Given the description of an element on the screen output the (x, y) to click on. 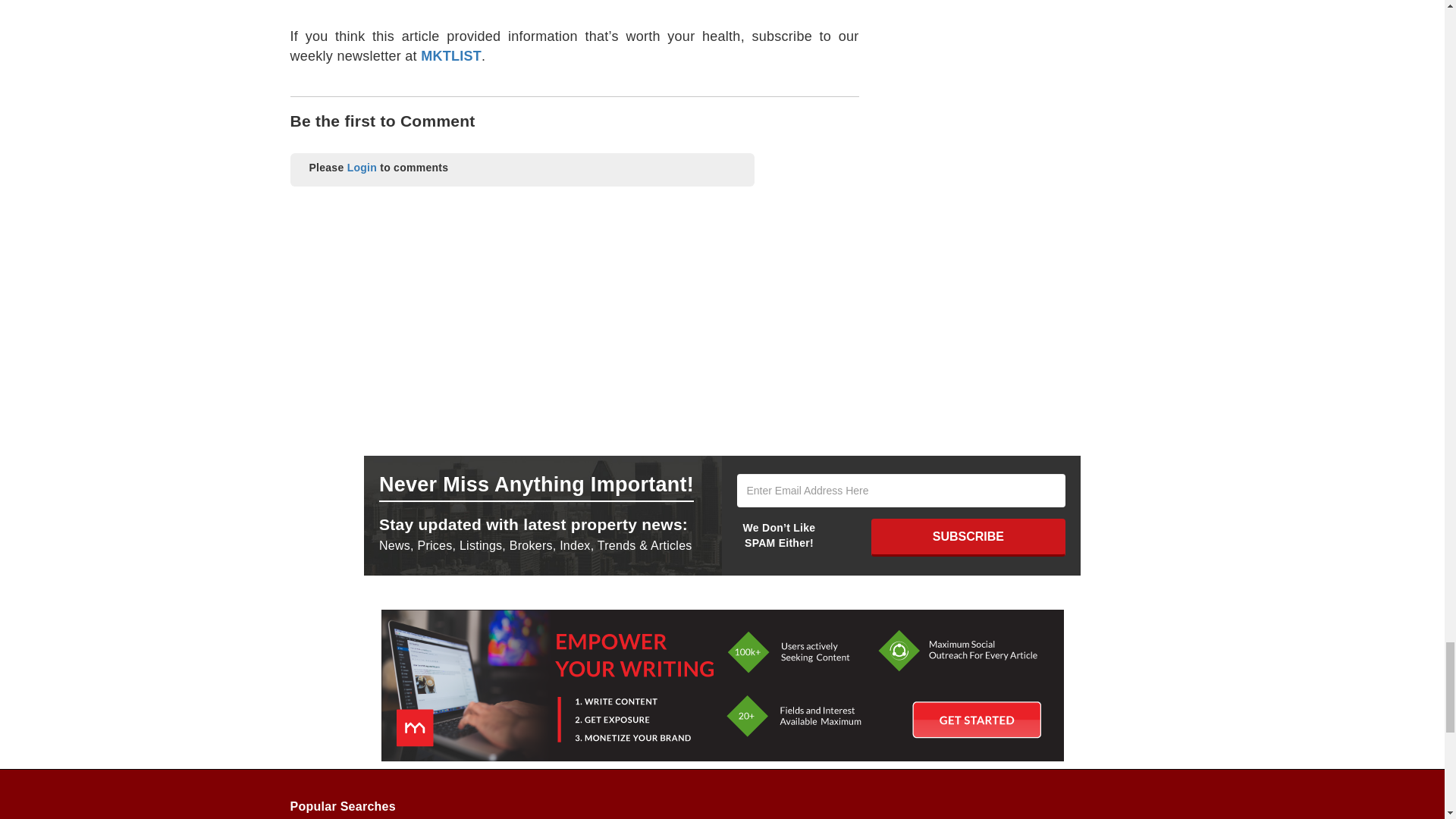
SUBSCRIBE (967, 537)
